Given the description of an element on the screen output the (x, y) to click on. 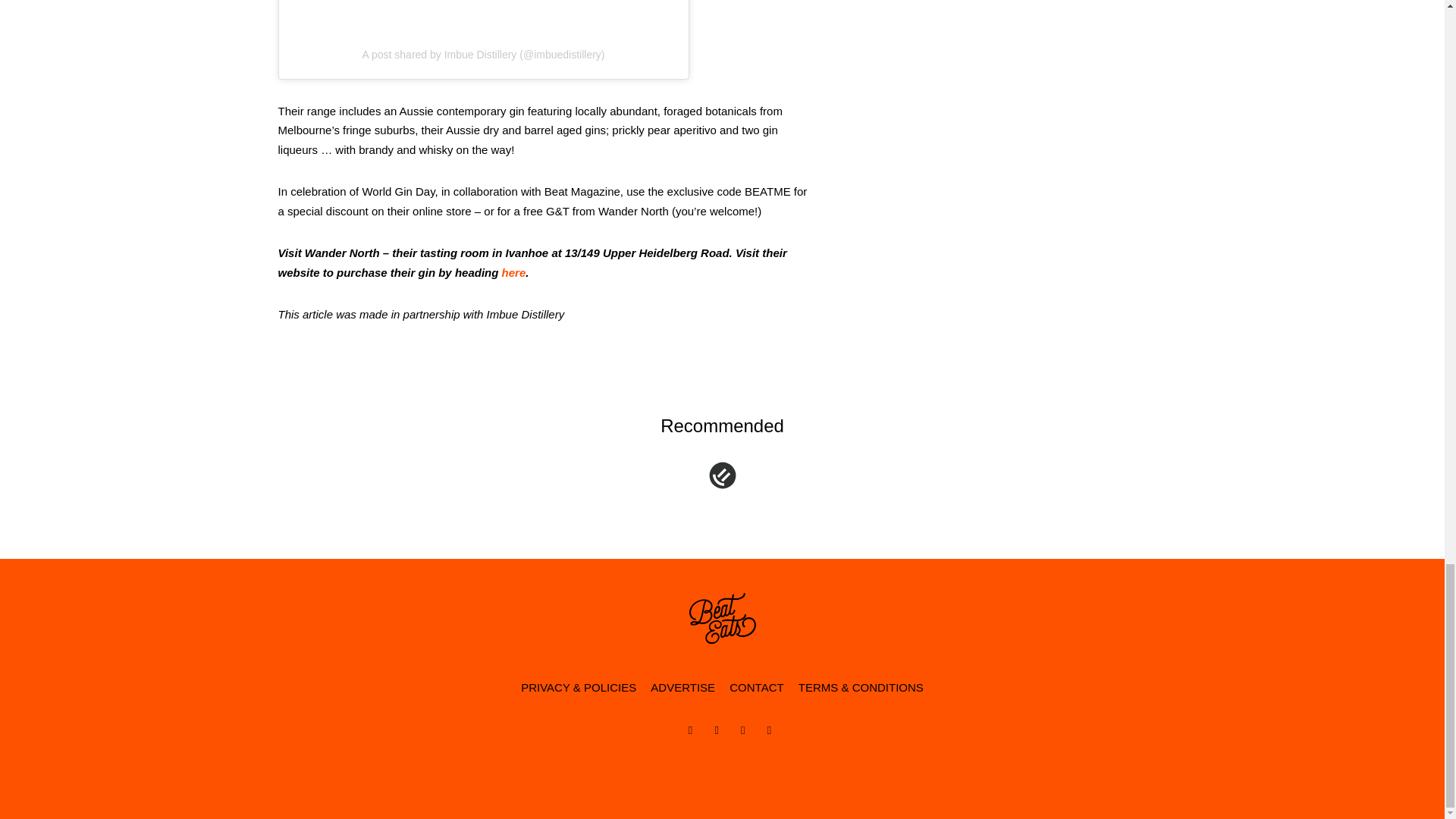
ADVERTISE (682, 687)
here (513, 272)
CONTACT (756, 687)
